Given the description of an element on the screen output the (x, y) to click on. 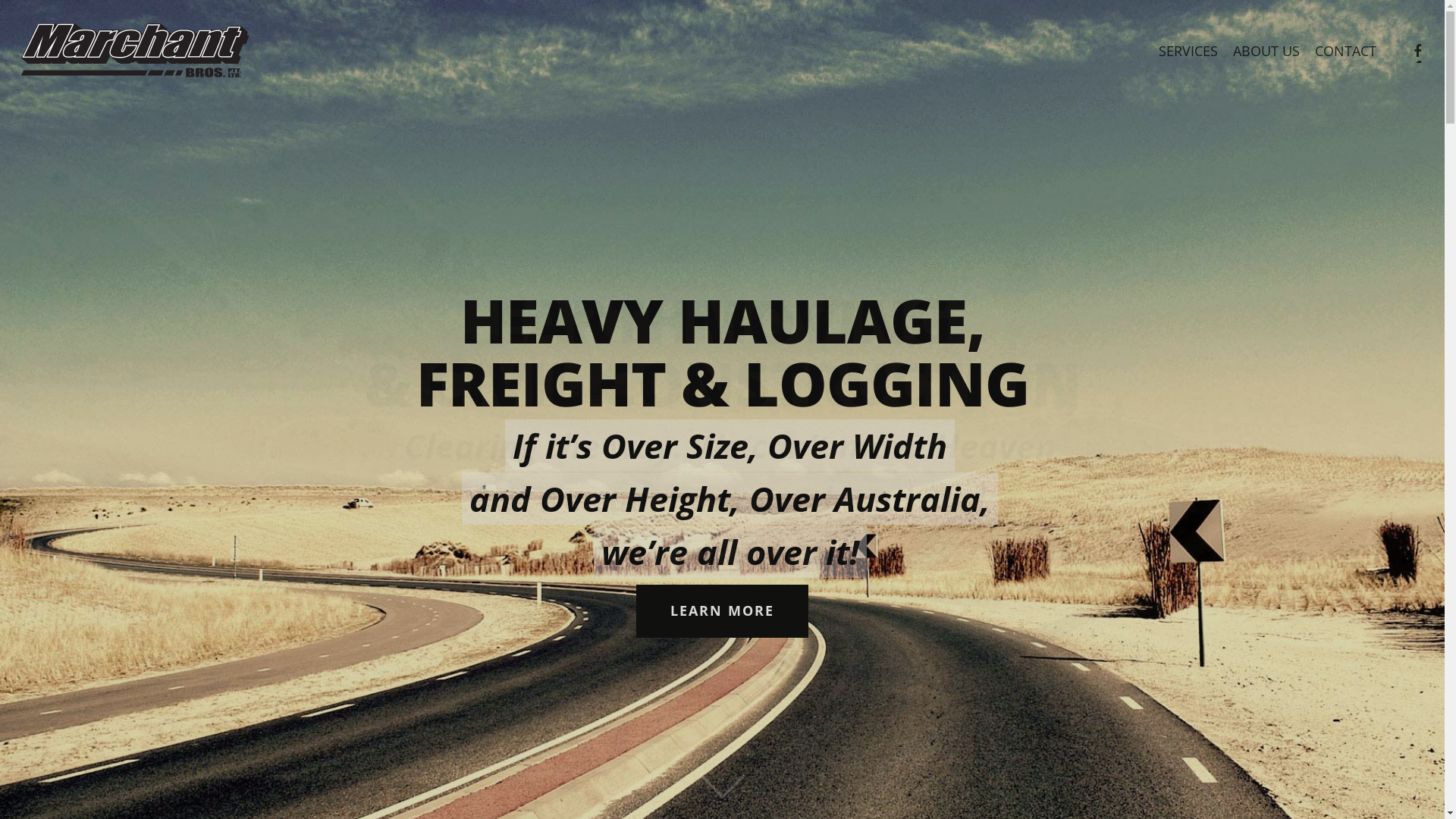
FACEBOOK Element type: text (1416, 50)
CONTACT Element type: text (1345, 50)
ABOUT US Element type: text (1266, 50)
SERVICES Element type: text (1188, 50)
LEARN MORE Element type: text (722, 610)
